Given the description of an element on the screen output the (x, y) to click on. 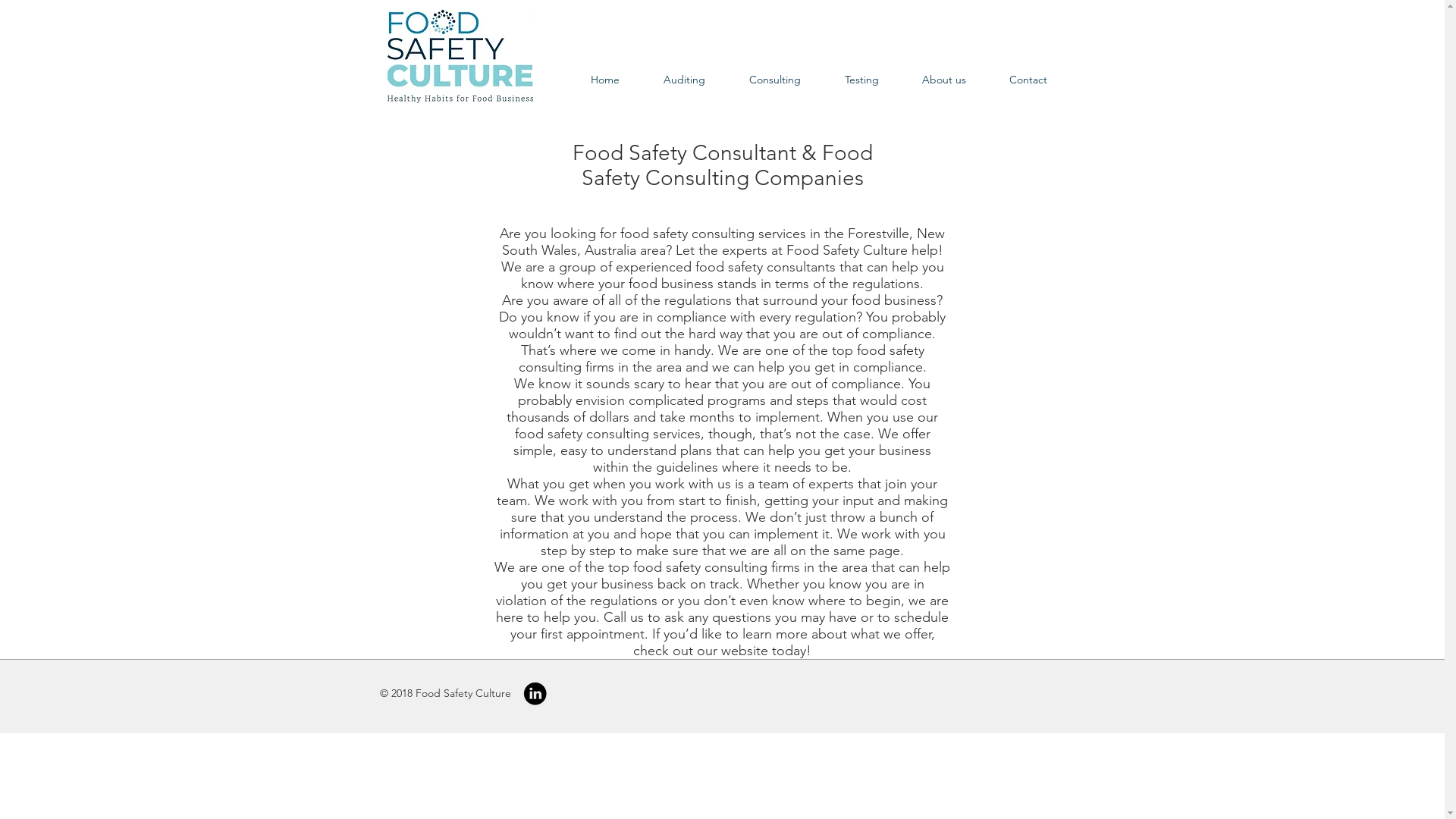
Testing Element type: text (861, 79)
Contact Element type: text (1027, 79)
About us Element type: text (944, 79)
Consulting Element type: text (774, 79)
Auditing Element type: text (684, 79)
Home Element type: text (604, 79)
